Given the description of an element on the screen output the (x, y) to click on. 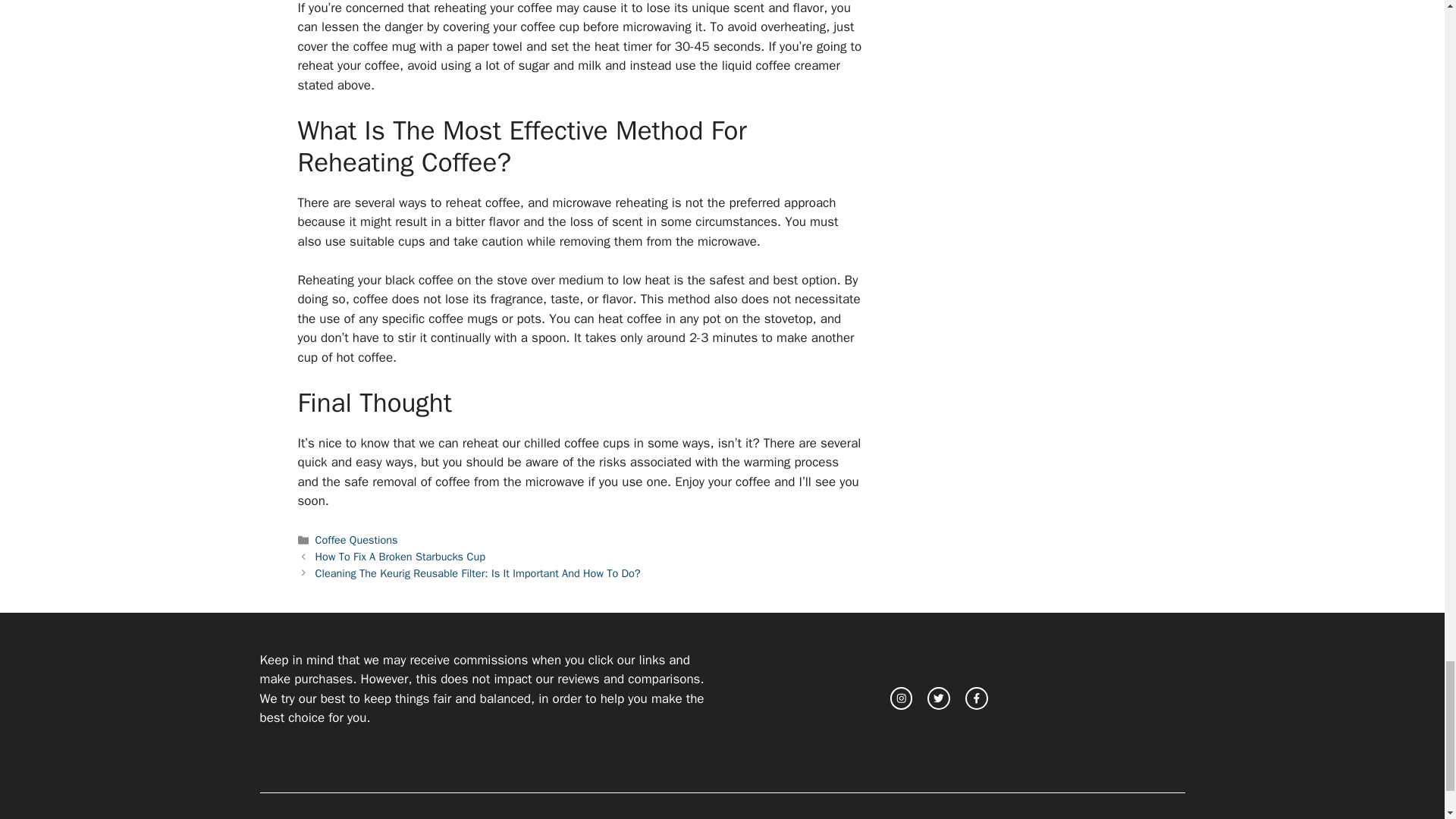
Coffee Questions (356, 540)
How To Fix A Broken Starbucks Cup (399, 556)
